Given the description of an element on the screen output the (x, y) to click on. 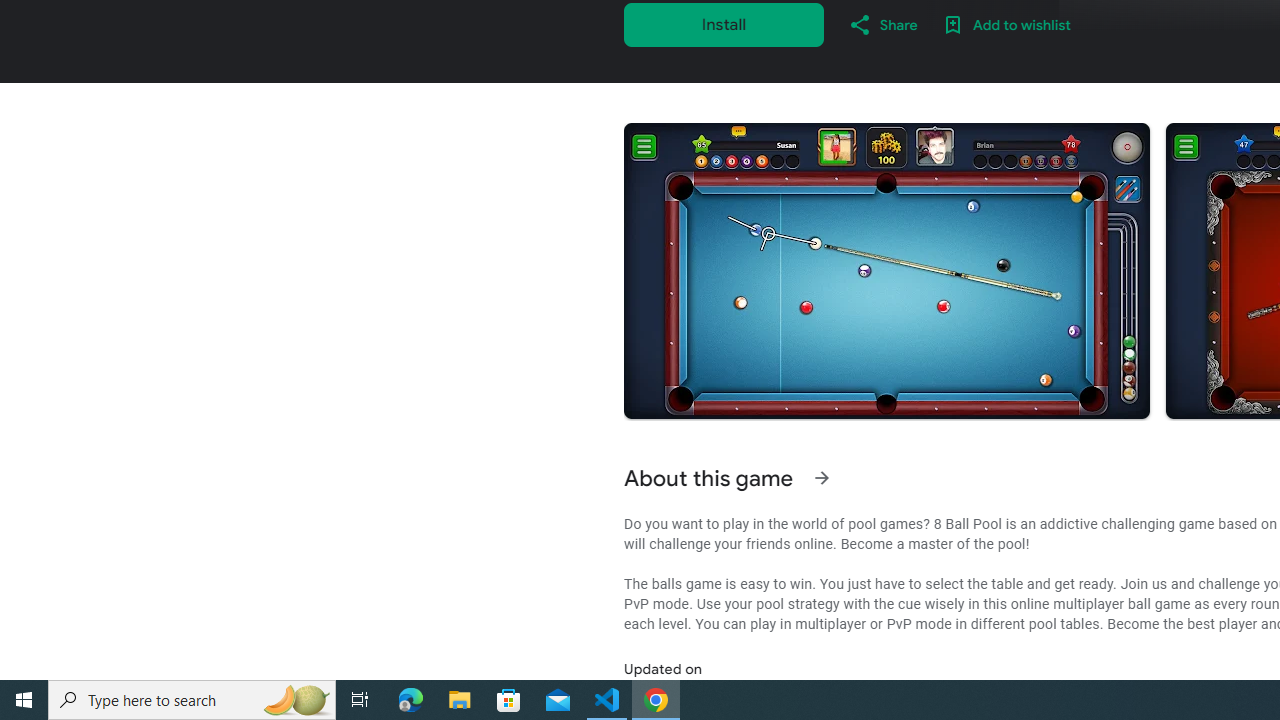
Print (104, 168)
Options (104, 605)
Export (104, 223)
Pin to list (1223, 554)
Account (104, 551)
